Given the description of an element on the screen output the (x, y) to click on. 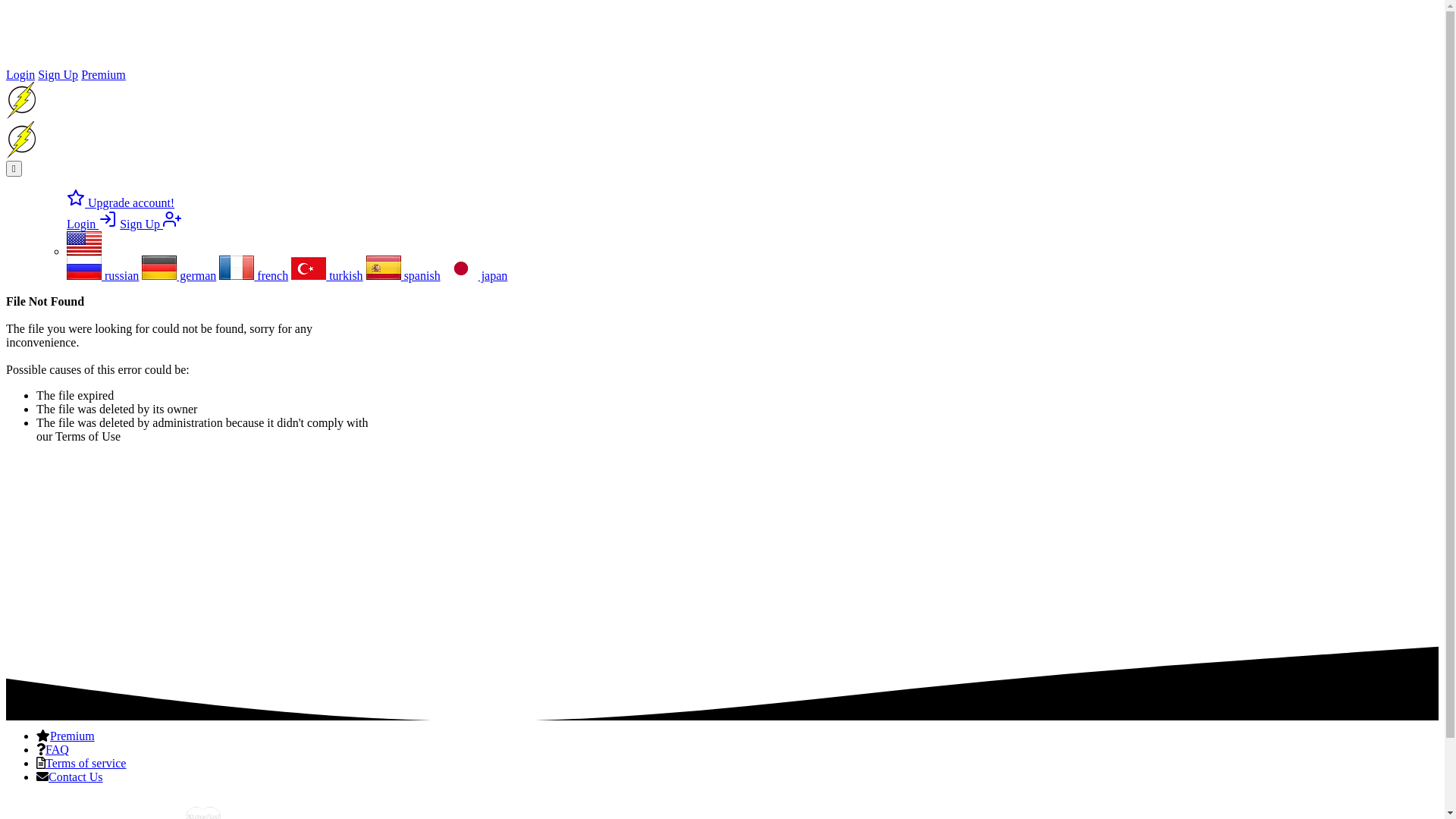
Sign Up Element type: text (57, 74)
japan Element type: text (475, 275)
Login Element type: text (20, 74)
german Element type: text (178, 275)
Sign Up Element type: text (150, 223)
Premium Element type: text (103, 74)
Login Element type: text (91, 223)
turkish Element type: text (326, 275)
Contact Us Element type: text (75, 776)
spanish Element type: text (403, 275)
Terms of service Element type: text (85, 762)
french Element type: text (253, 275)
Premium Element type: text (72, 735)
russian Element type: text (102, 275)
Upgrade account! Element type: text (120, 202)
FAQ Element type: text (57, 749)
